Given the description of an element on the screen output the (x, y) to click on. 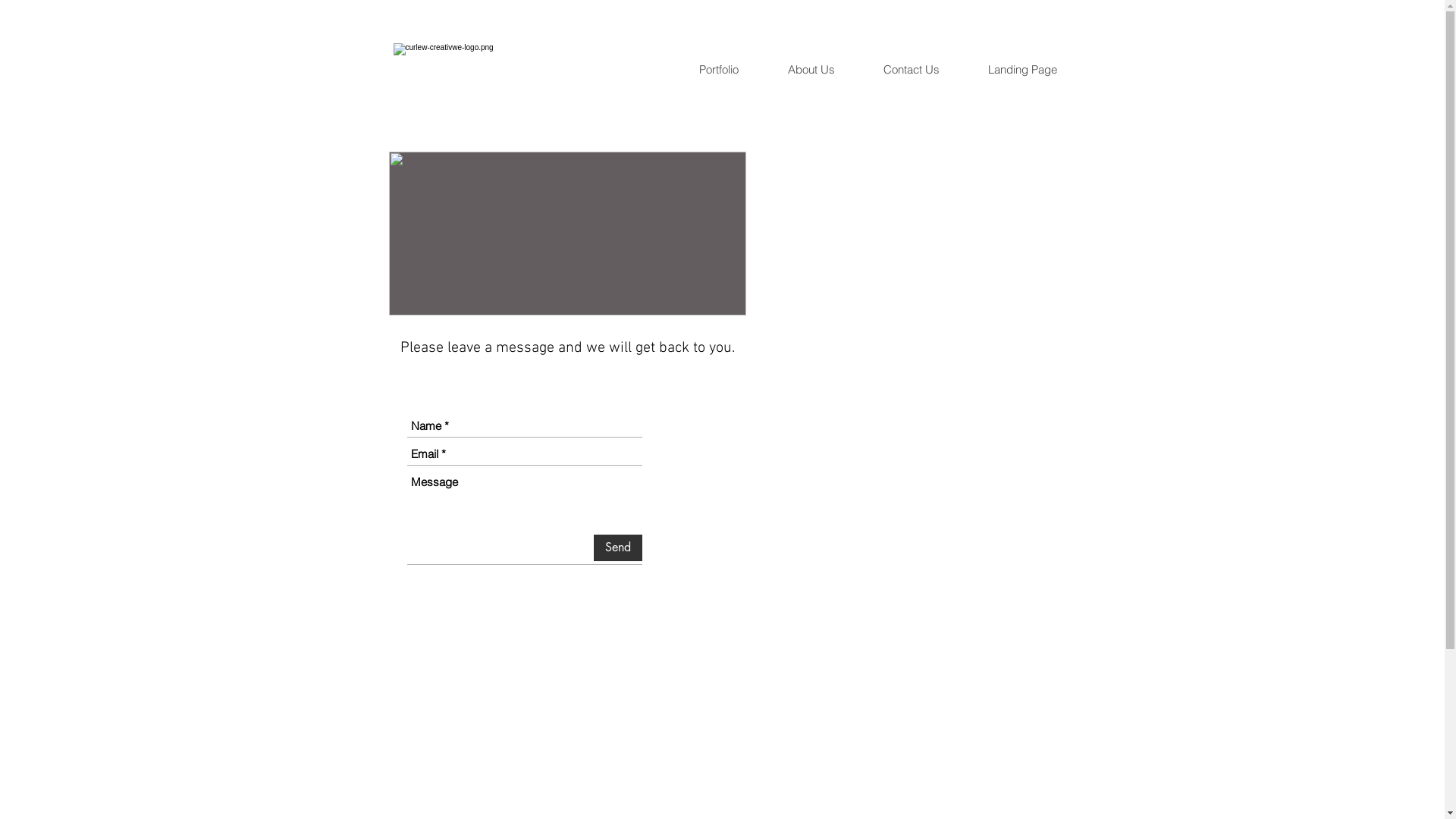
Contact Us Element type: text (922, 69)
About Us Element type: text (822, 69)
Portfolio Element type: text (731, 69)
Landing Page Element type: text (1033, 69)
Send Element type: text (617, 547)
